Given the description of an element on the screen output the (x, y) to click on. 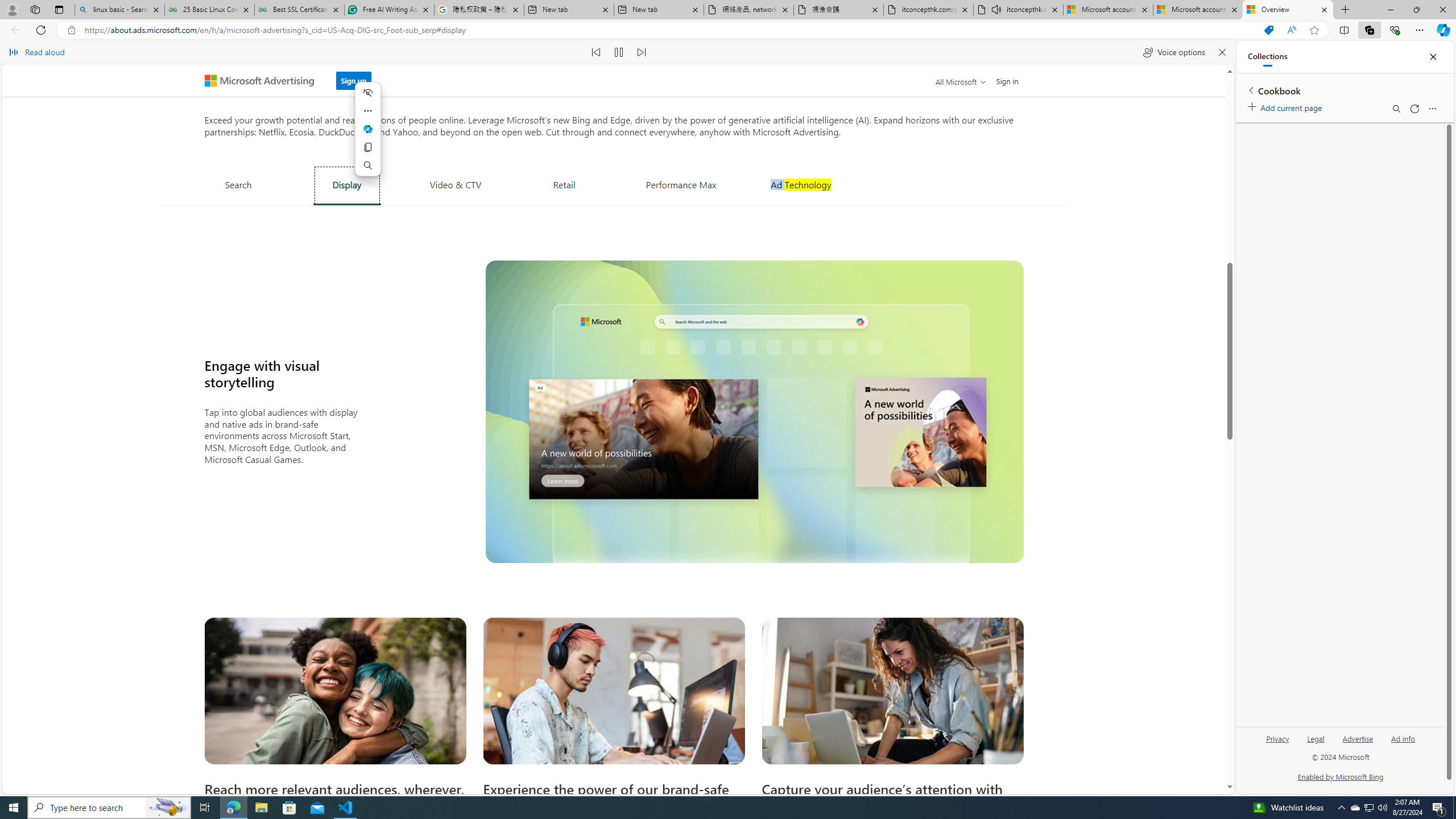
Ad info (1402, 742)
Read previous paragraph (596, 52)
Shopping in Microsoft Edge (1268, 29)
More actions (367, 110)
